Given the description of an element on the screen output the (x, y) to click on. 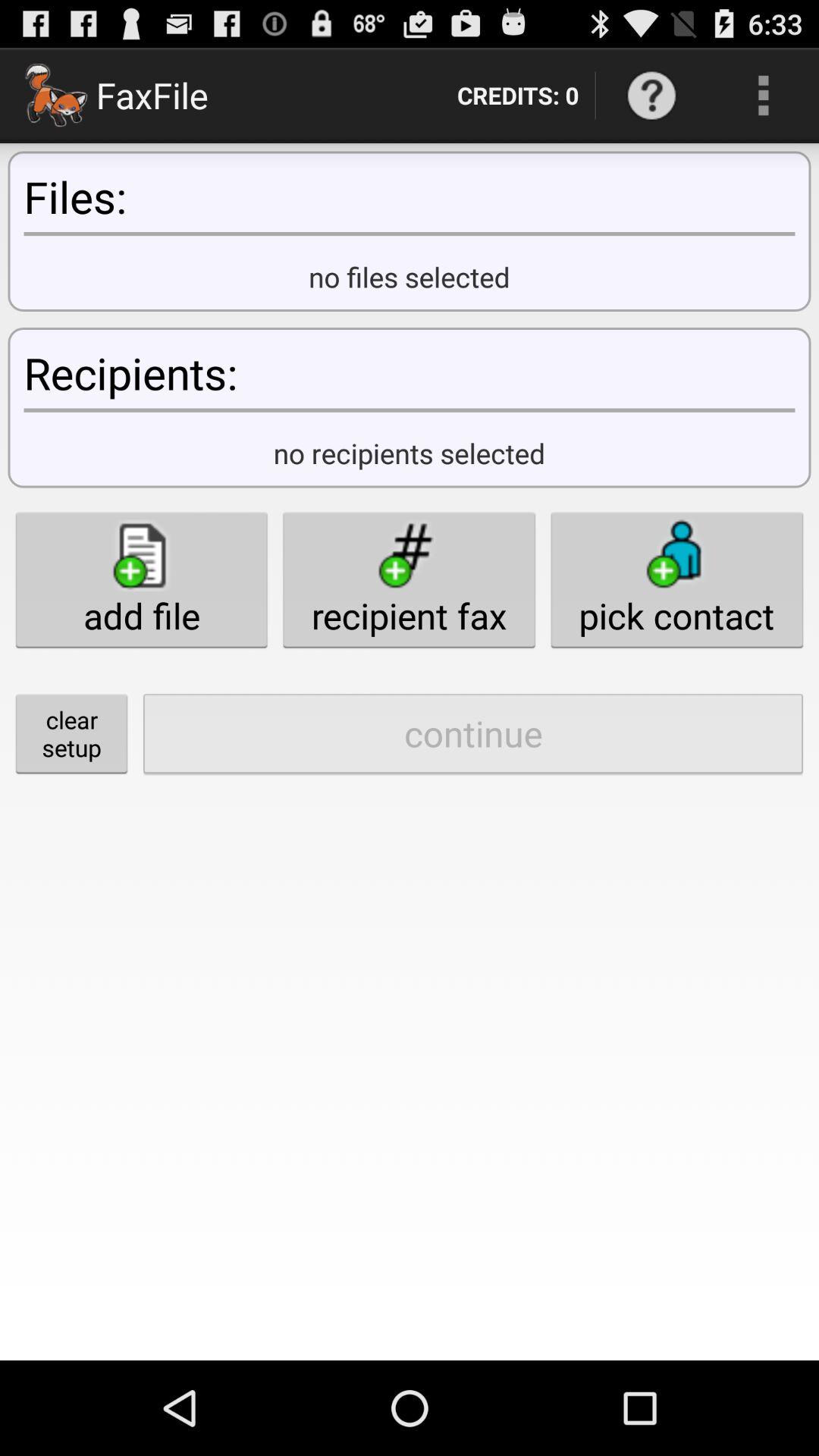
press the item on the right (677, 579)
